Given the description of an element on the screen output the (x, y) to click on. 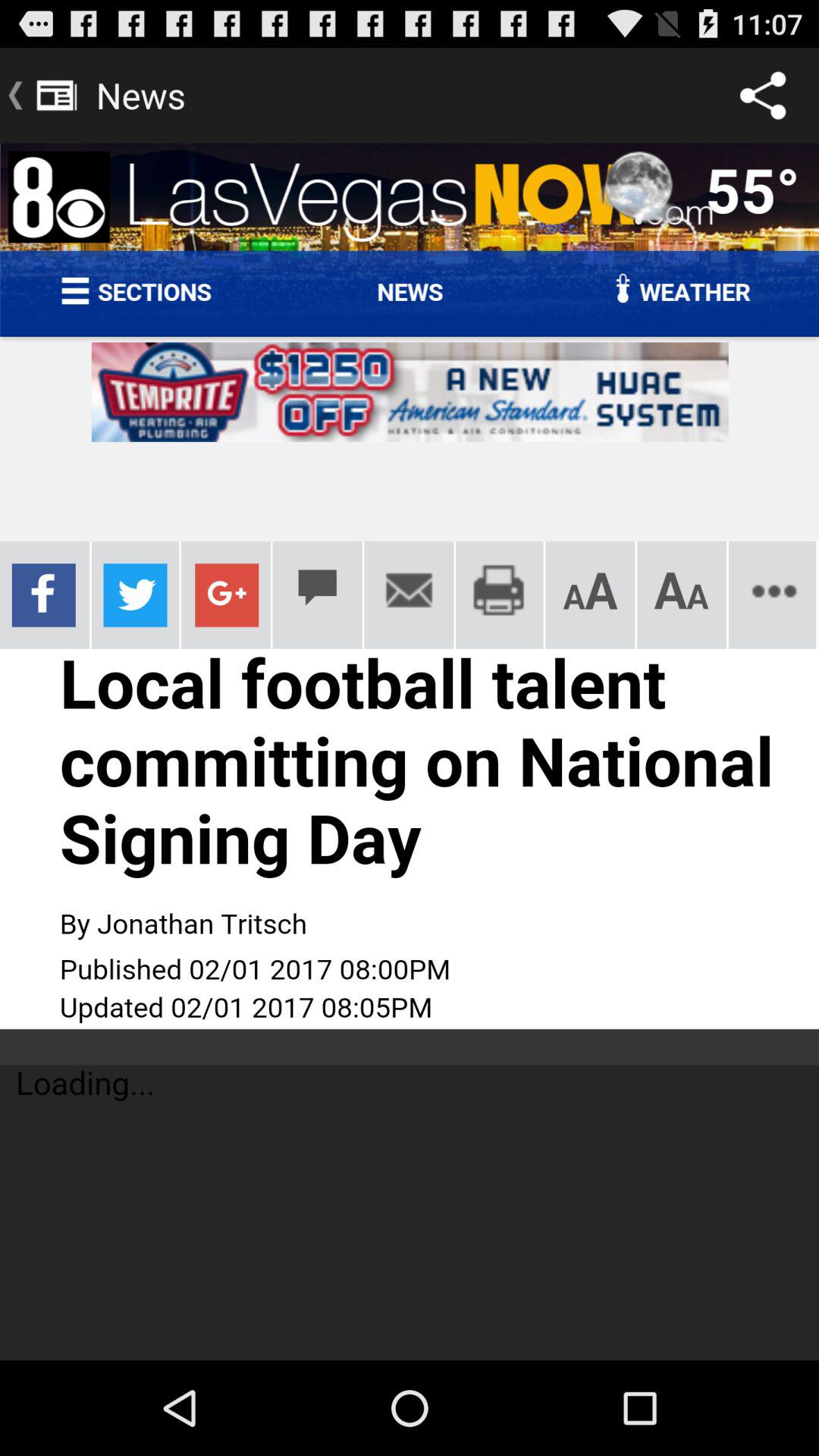
page (409, 751)
